Given the description of an element on the screen output the (x, y) to click on. 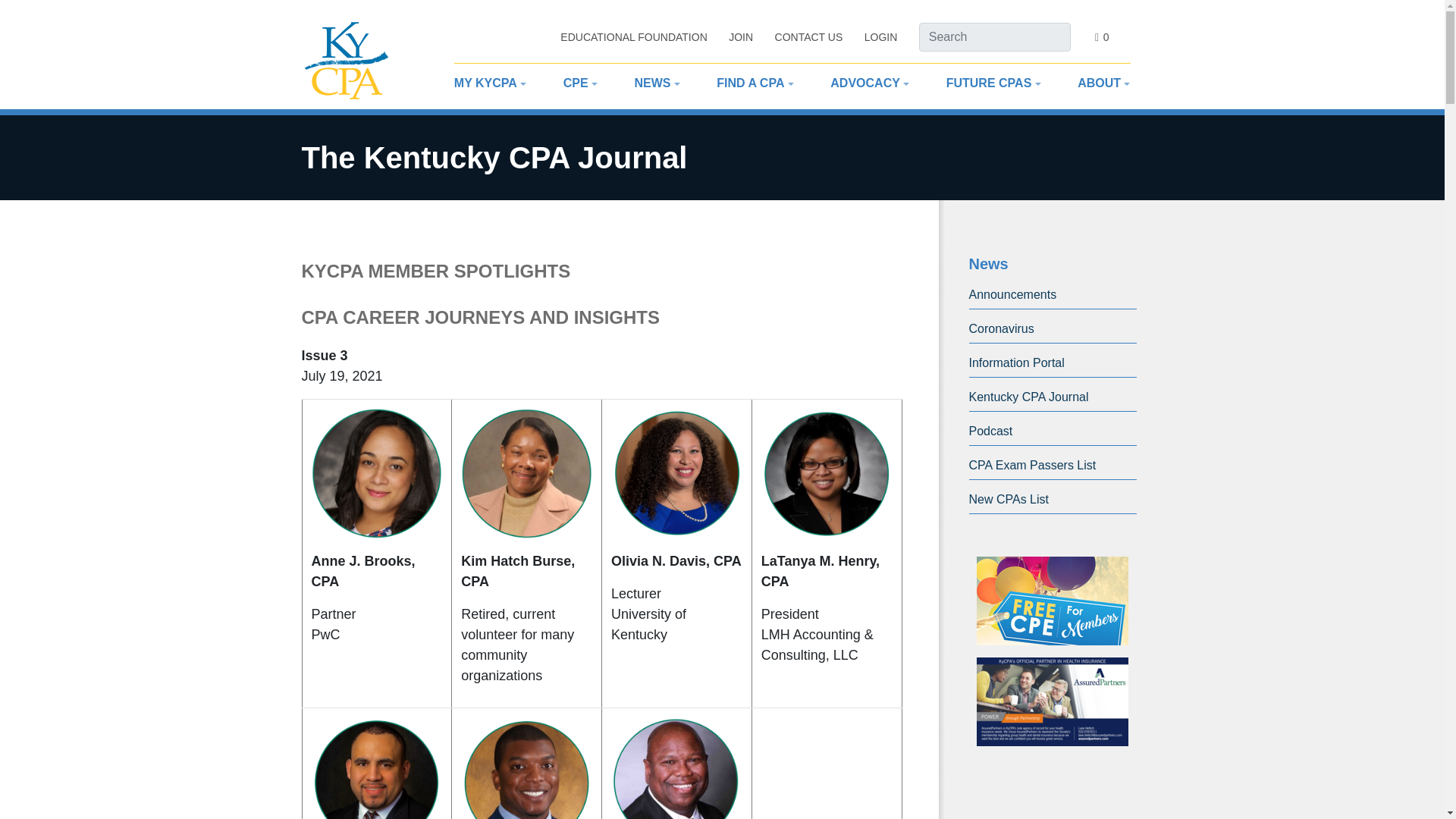
LOGIN (881, 38)
0 (1101, 37)
FIND A CPA (750, 83)
NEWS (651, 83)
MY KYCPA (485, 83)
CPE (575, 83)
CONTACT US (808, 38)
JOIN (740, 38)
EDUCATIONAL FOUNDATION (633, 38)
